Given the description of an element on the screen output the (x, y) to click on. 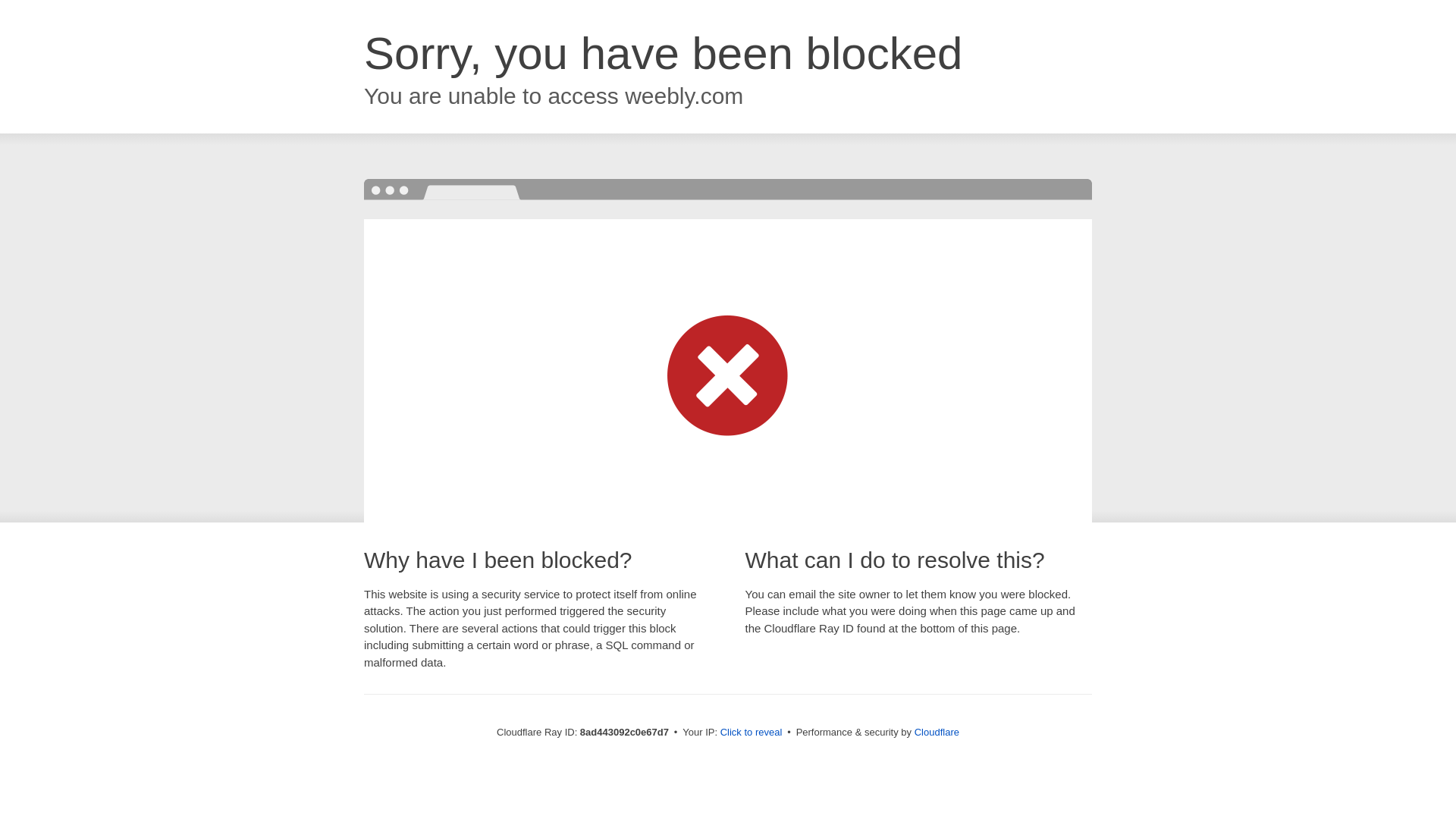
Cloudflare (936, 731)
Click to reveal (751, 732)
